Given the description of an element on the screen output the (x, y) to click on. 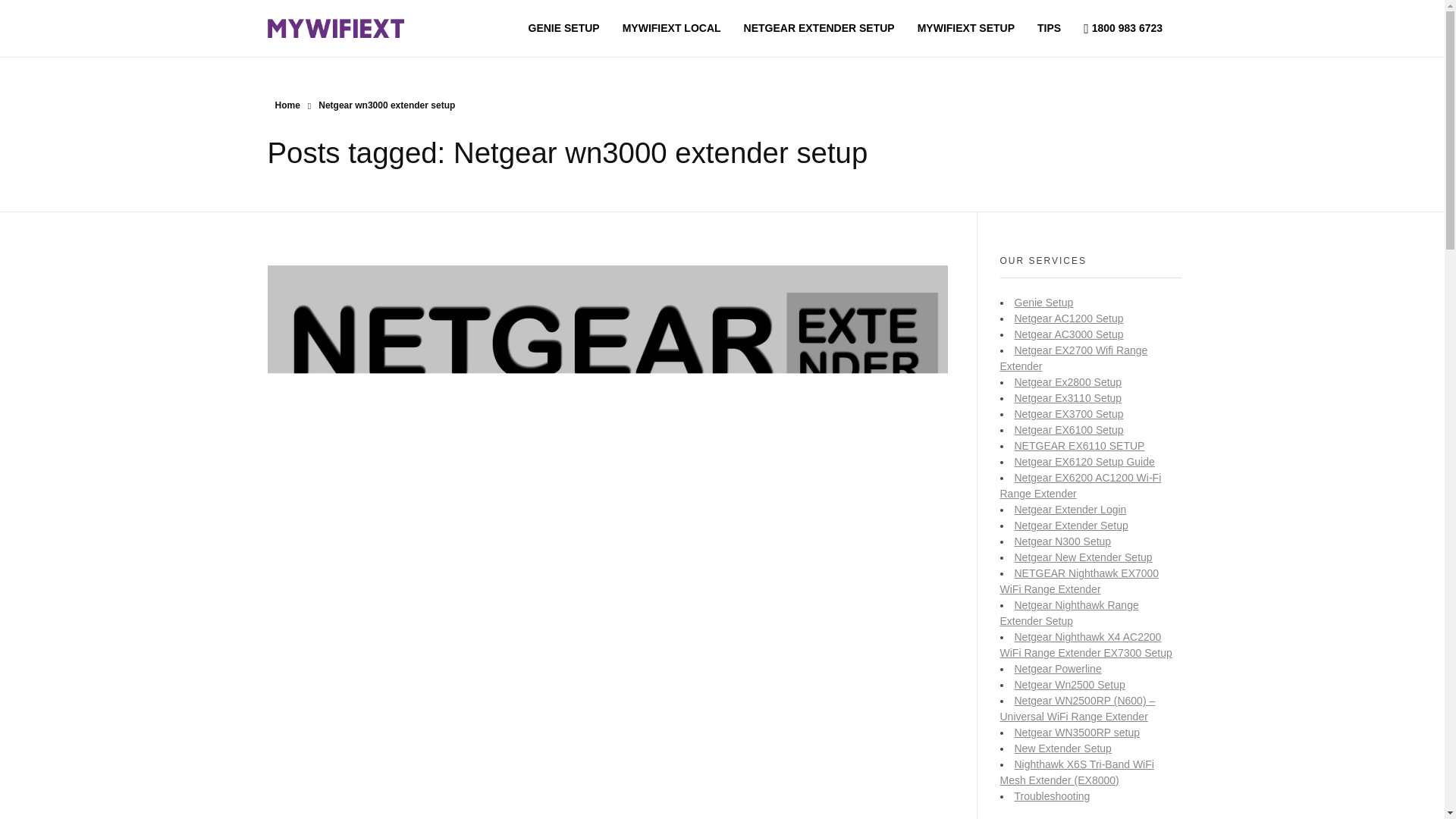
Netgear N300 Setup (1063, 541)
Netgear Ex2800 Setup (1068, 381)
Netgear AC3000 Setup (1069, 334)
Home (287, 104)
Netgear New Extender Setup (1083, 557)
Netgear AC1200 Setup (1069, 318)
NETGEAR EXTENDER SETUP (818, 28)
Netgear EX6120 Setup Guide (1084, 461)
Netgear EX6100 Setup (1069, 429)
Genie Setup (1044, 302)
